Given the description of an element on the screen output the (x, y) to click on. 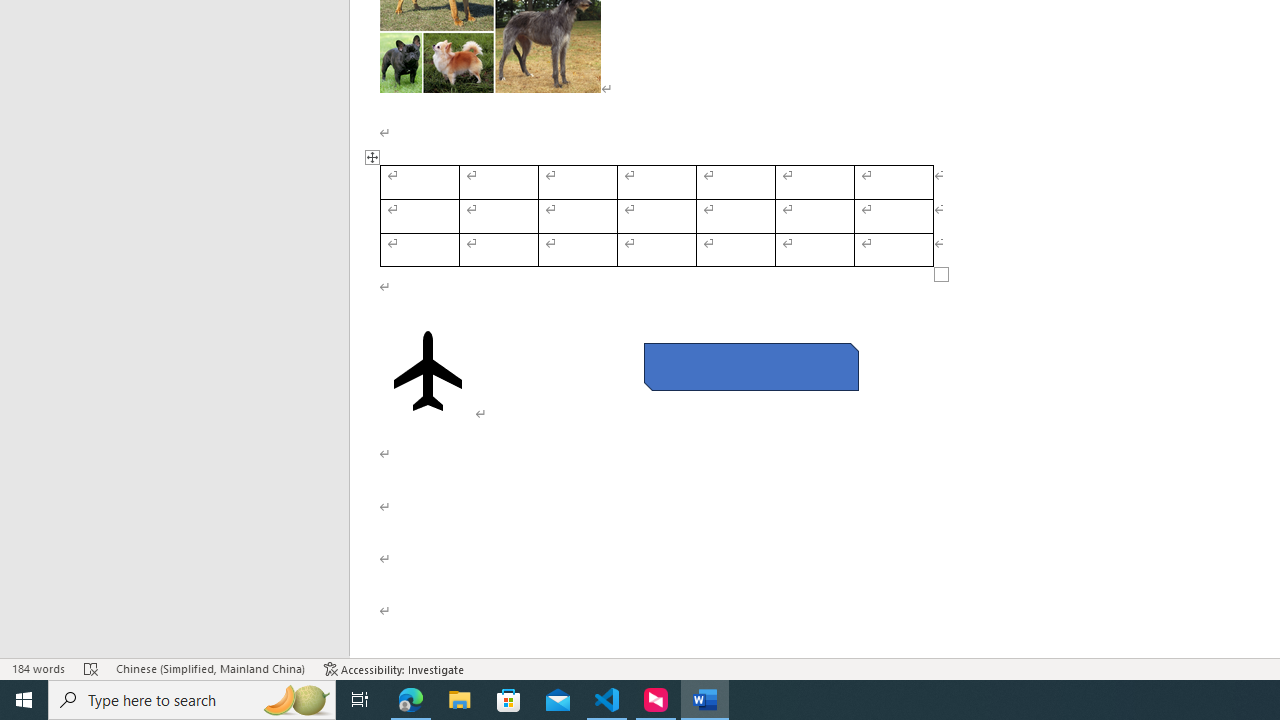
Rectangle: Diagonal Corners Snipped 2 (750, 366)
Word Count 184 words (37, 668)
Airplane with solid fill (428, 371)
